Given the description of an element on the screen output the (x, y) to click on. 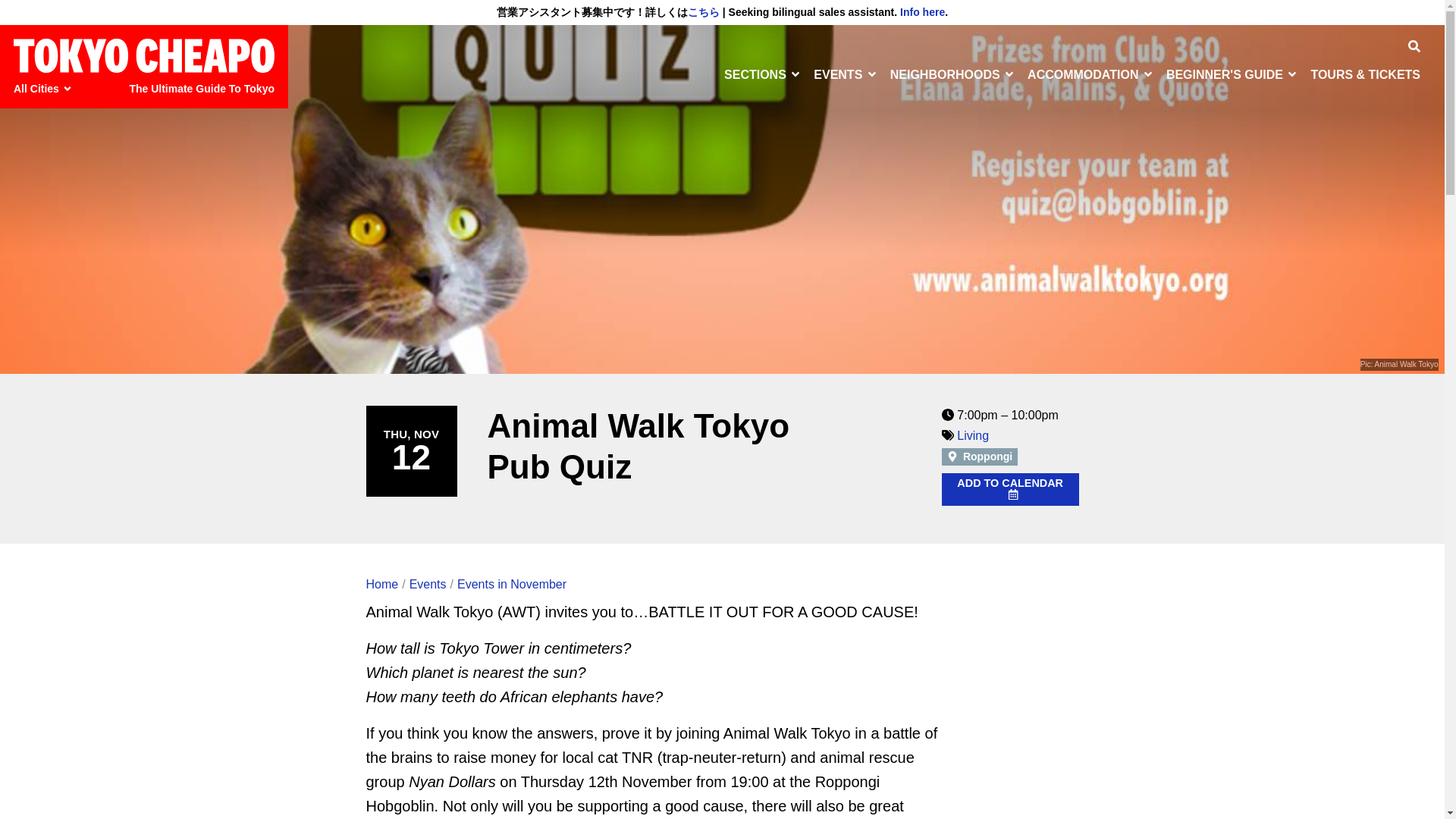
Tokyo Cheapo (144, 55)
Sections (762, 74)
All Cities (45, 88)
Search (1414, 46)
Tokyo Cheapo Homepage (144, 54)
Info here (921, 11)
NEIGHBORHOODS (952, 74)
SECTIONS (762, 74)
EVENTS (845, 74)
